Given the description of an element on the screen output the (x, y) to click on. 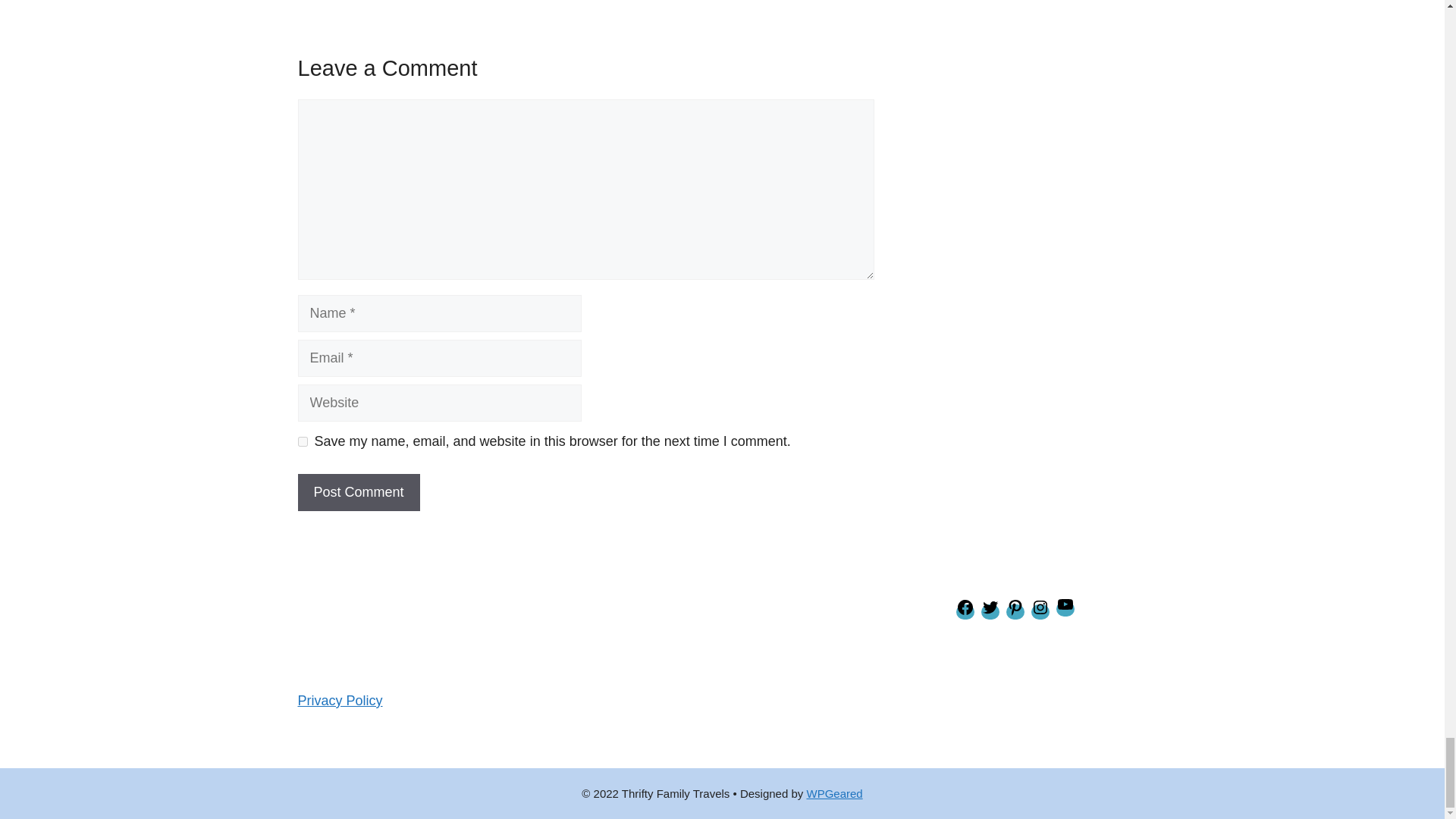
Post Comment (358, 492)
yes (302, 441)
